Given the description of an element on the screen output the (x, y) to click on. 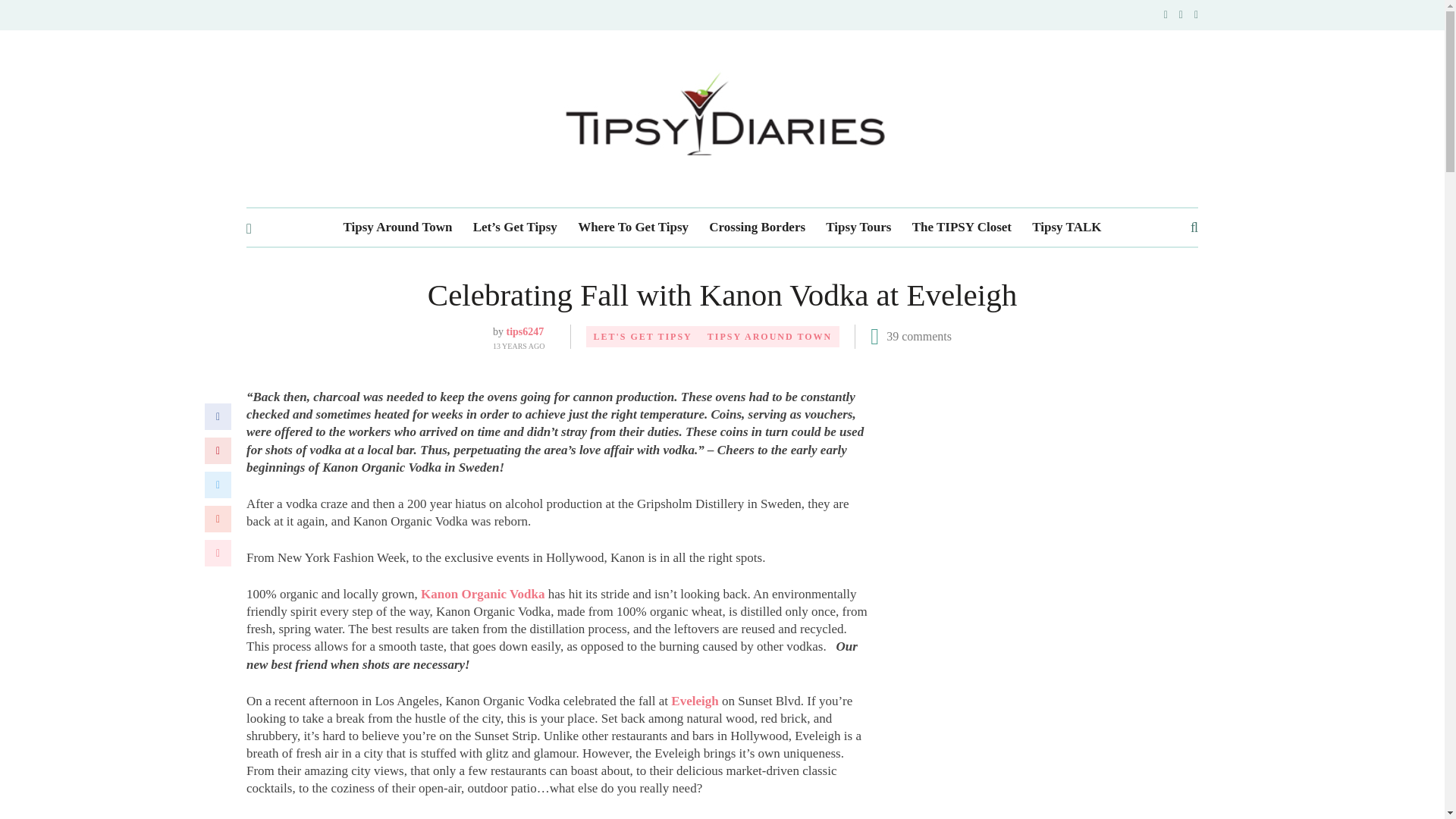
The TIPSY Closet (961, 227)
Tipsy TALK (1066, 227)
LET'S GET TIPSY (643, 336)
Tipsy Diaries (722, 118)
Kanon Organic Vodka (482, 594)
eveleigh (694, 700)
Where To Get Tipsy (633, 227)
TIPSY AROUND TOWN (770, 336)
Tipsy Around Town (397, 227)
Crossing Borders (757, 227)
tips6247 (524, 331)
Eveleigh (694, 700)
Tipsy Tours (858, 227)
kanon vodka (482, 594)
39 comments (919, 336)
